Given the description of an element on the screen output the (x, y) to click on. 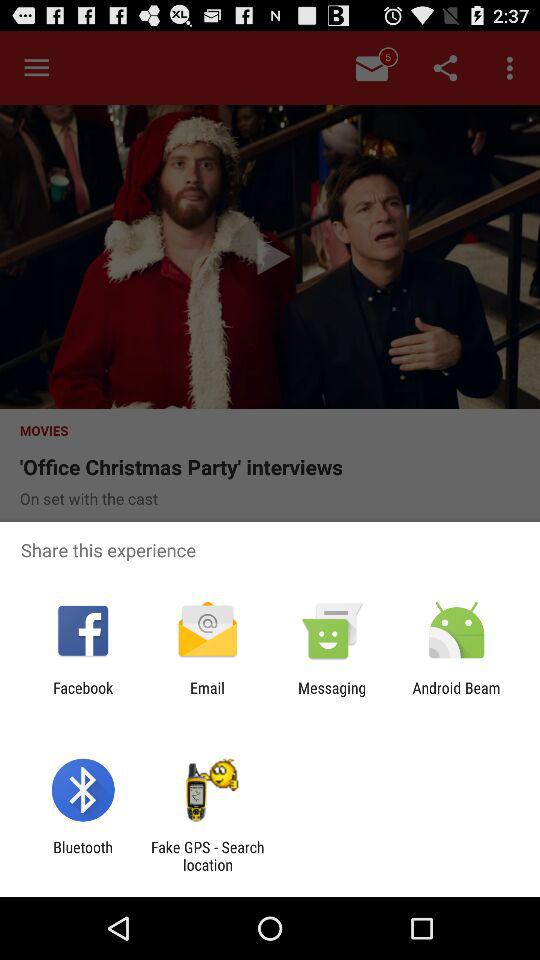
press the icon next to email (332, 696)
